Given the description of an element on the screen output the (x, y) to click on. 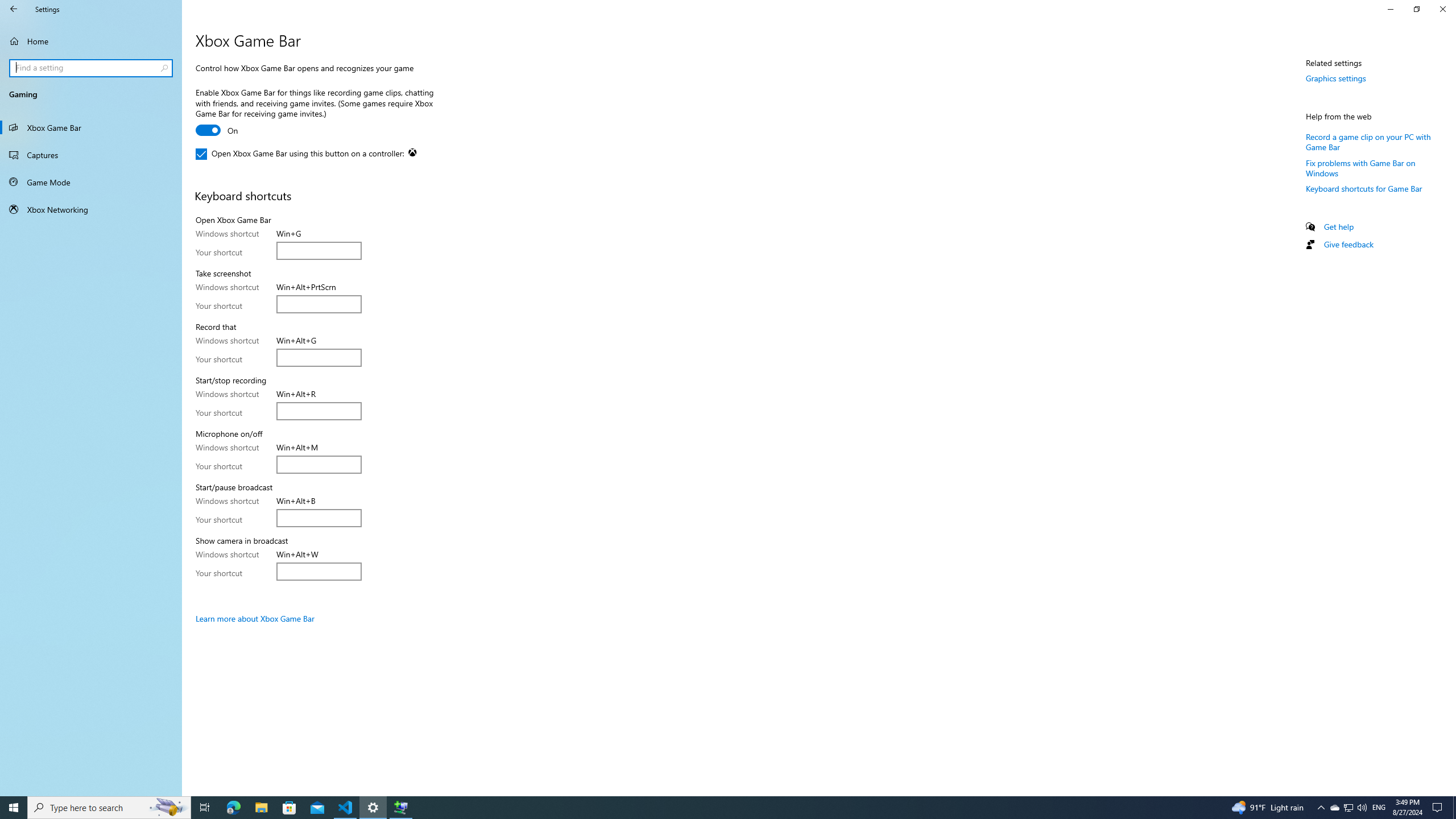
Close Settings (1442, 9)
Extensible Wizards Host Process - 1 running window (400, 807)
Get help (1338, 226)
Search box, Find a setting (91, 67)
AutomationID: ShortcutTextBox (318, 571)
